Given the description of an element on the screen output the (x, y) to click on. 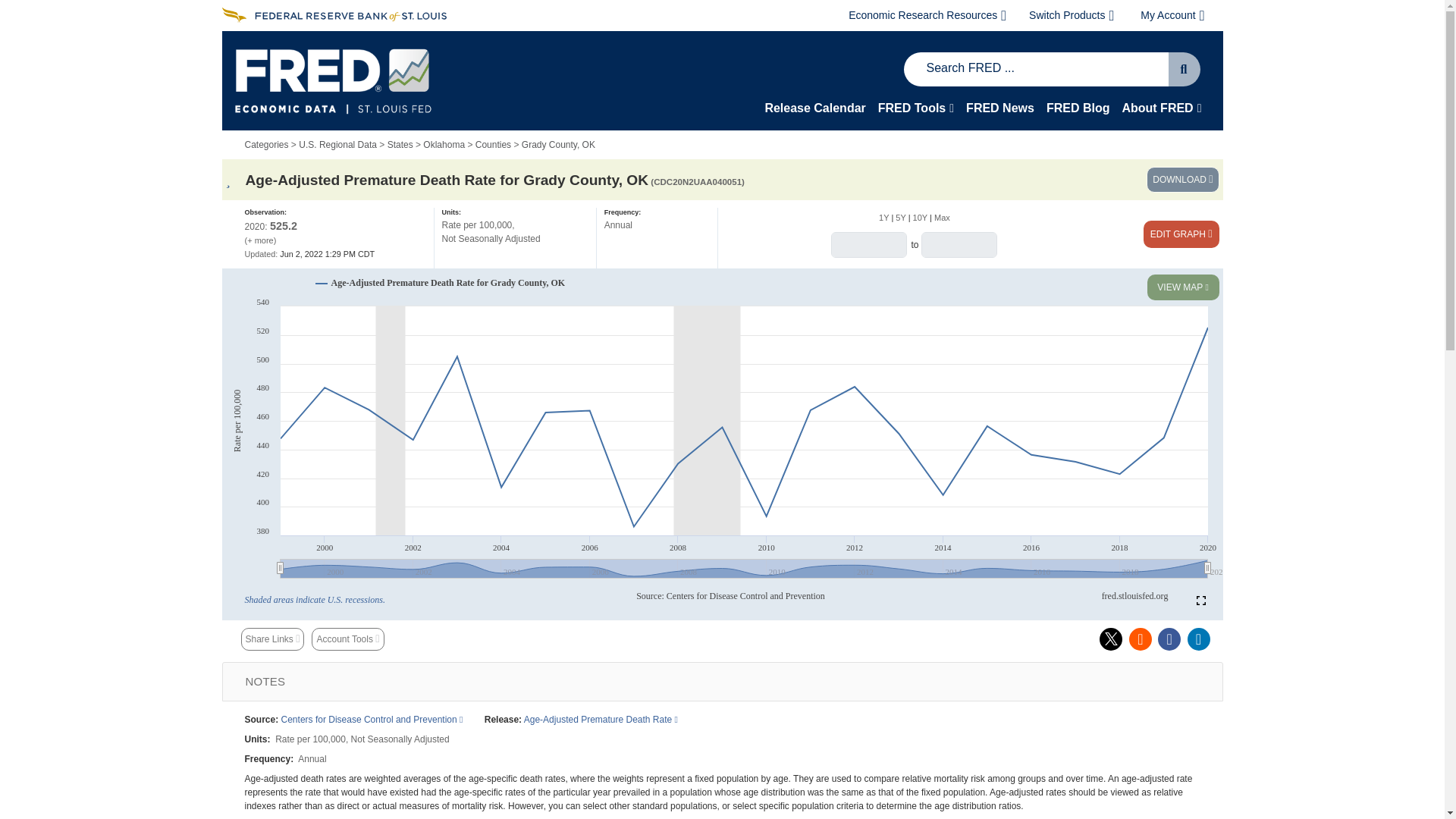
Chart context menu (231, 277)
Jun 2, 2022 1:29 PM CDT (309, 253)
